Given the description of an element on the screen output the (x, y) to click on. 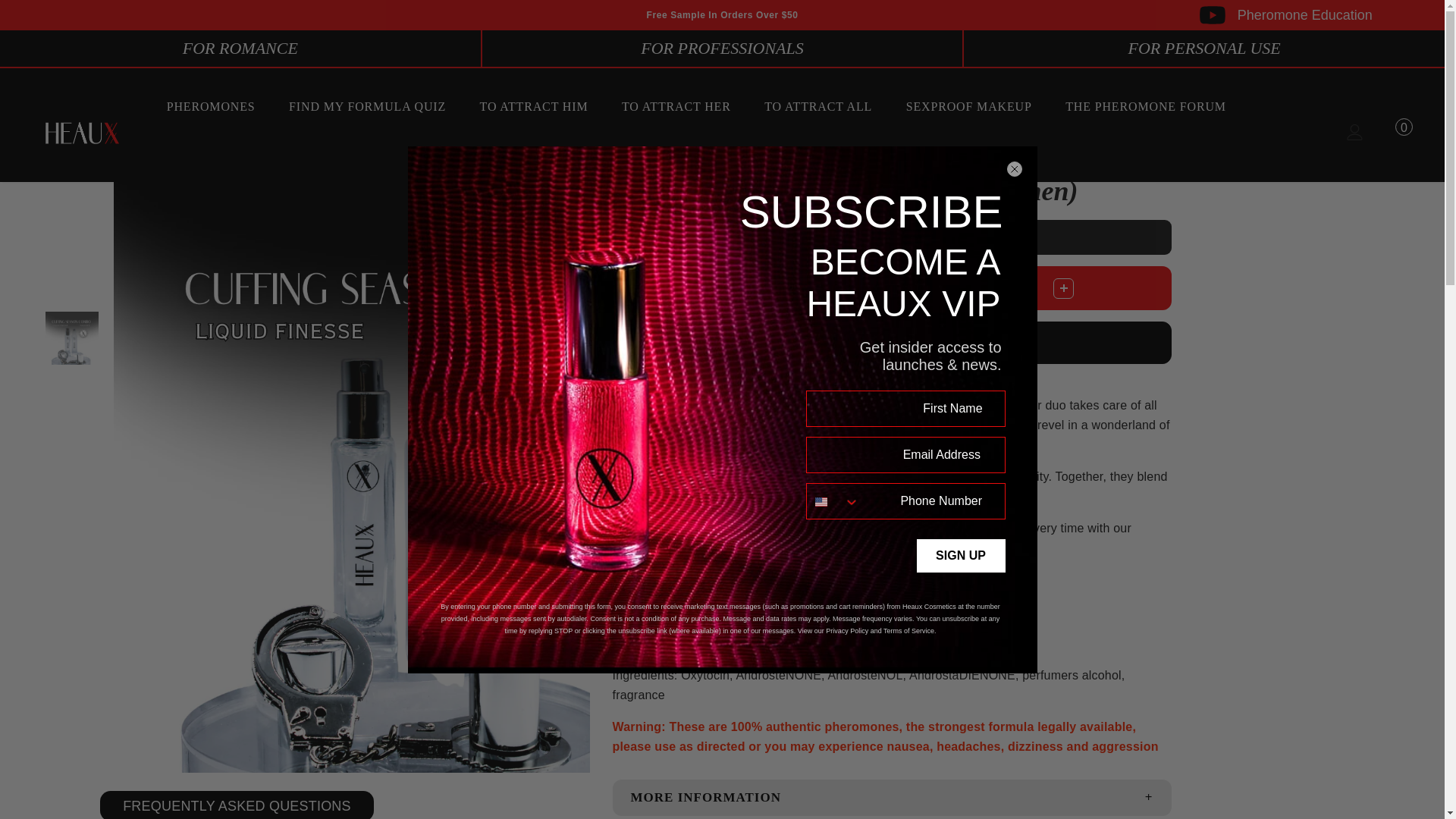
FOR PROFESSIONALS (722, 48)
1 (1023, 287)
SHOP IN STORE (857, 157)
Logo (82, 133)
Pheromone Education (1286, 14)
FOR ROMANCE (240, 48)
SEXPROOF MAKEUP (968, 110)
Cart Icon (1387, 132)
CONTACT (745, 157)
TO ATTRACT HIM (534, 110)
Add to Bag (892, 342)
0 (1387, 132)
TO ATTRACT ALL (818, 110)
FIND MY FORMULA QUIZ (366, 110)
FREQUENTLY ASKED QUESTIONS (237, 805)
